Given the description of an element on the screen output the (x, y) to click on. 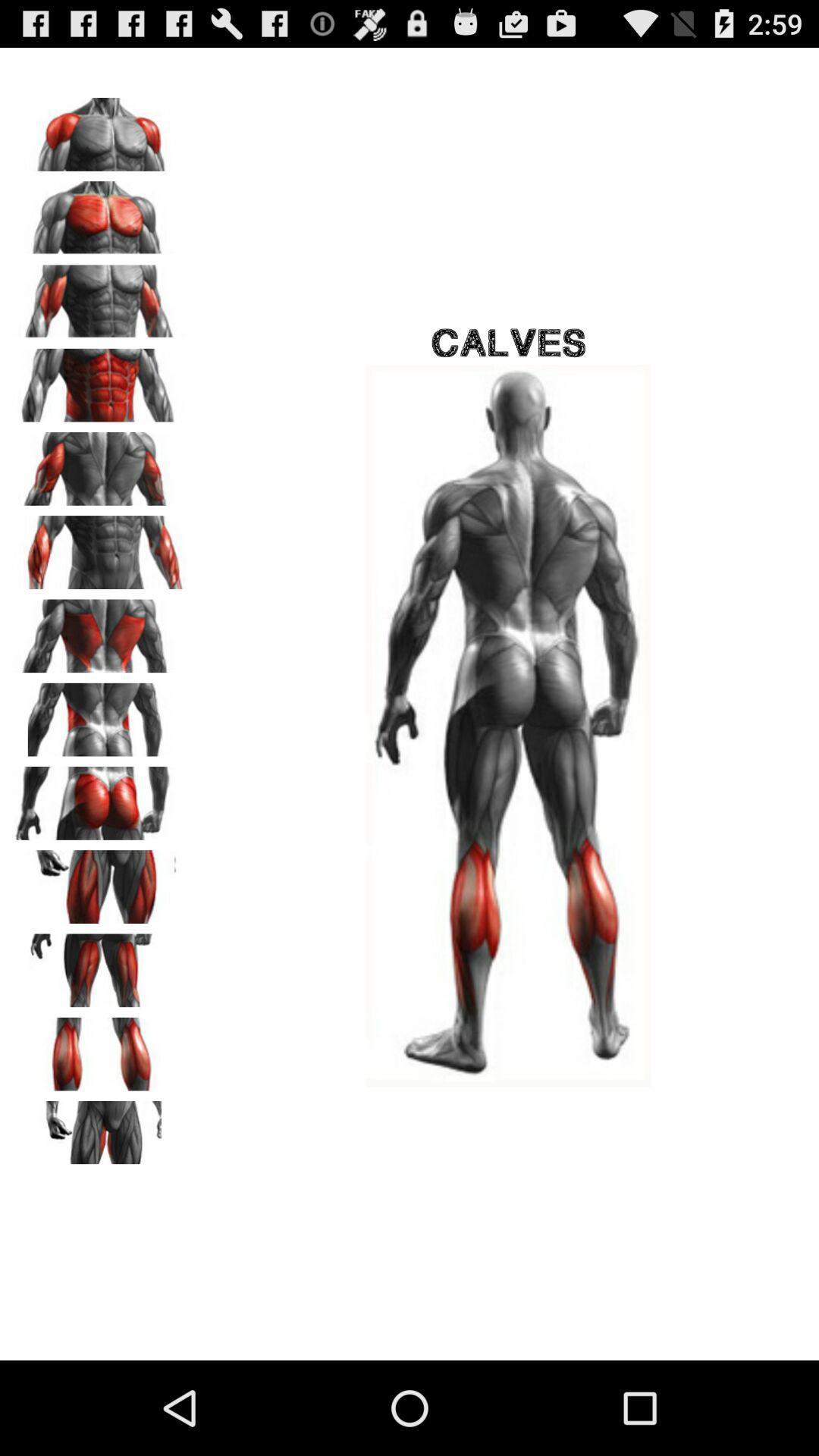
back side of the body (99, 463)
